Given the description of an element on the screen output the (x, y) to click on. 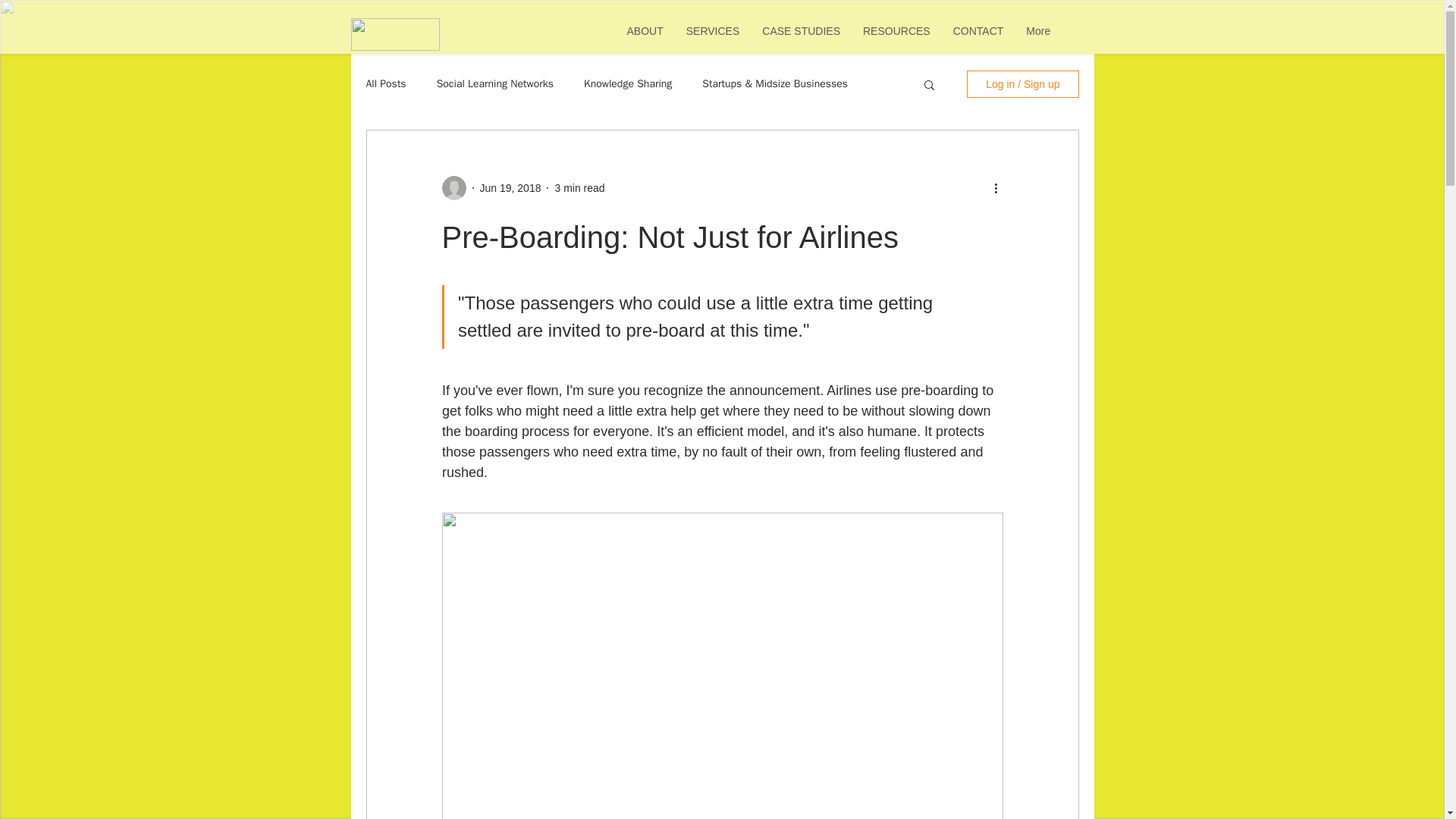
All Posts (385, 83)
SERVICES (713, 37)
Knowledge Sharing (627, 83)
Jun 19, 2018 (509, 187)
ABOUT (645, 37)
Social Learning Networks (494, 83)
CONTACT (978, 37)
3 min read (579, 187)
RESOURCES (896, 37)
CASE STUDIES (801, 37)
